Given the description of an element on the screen output the (x, y) to click on. 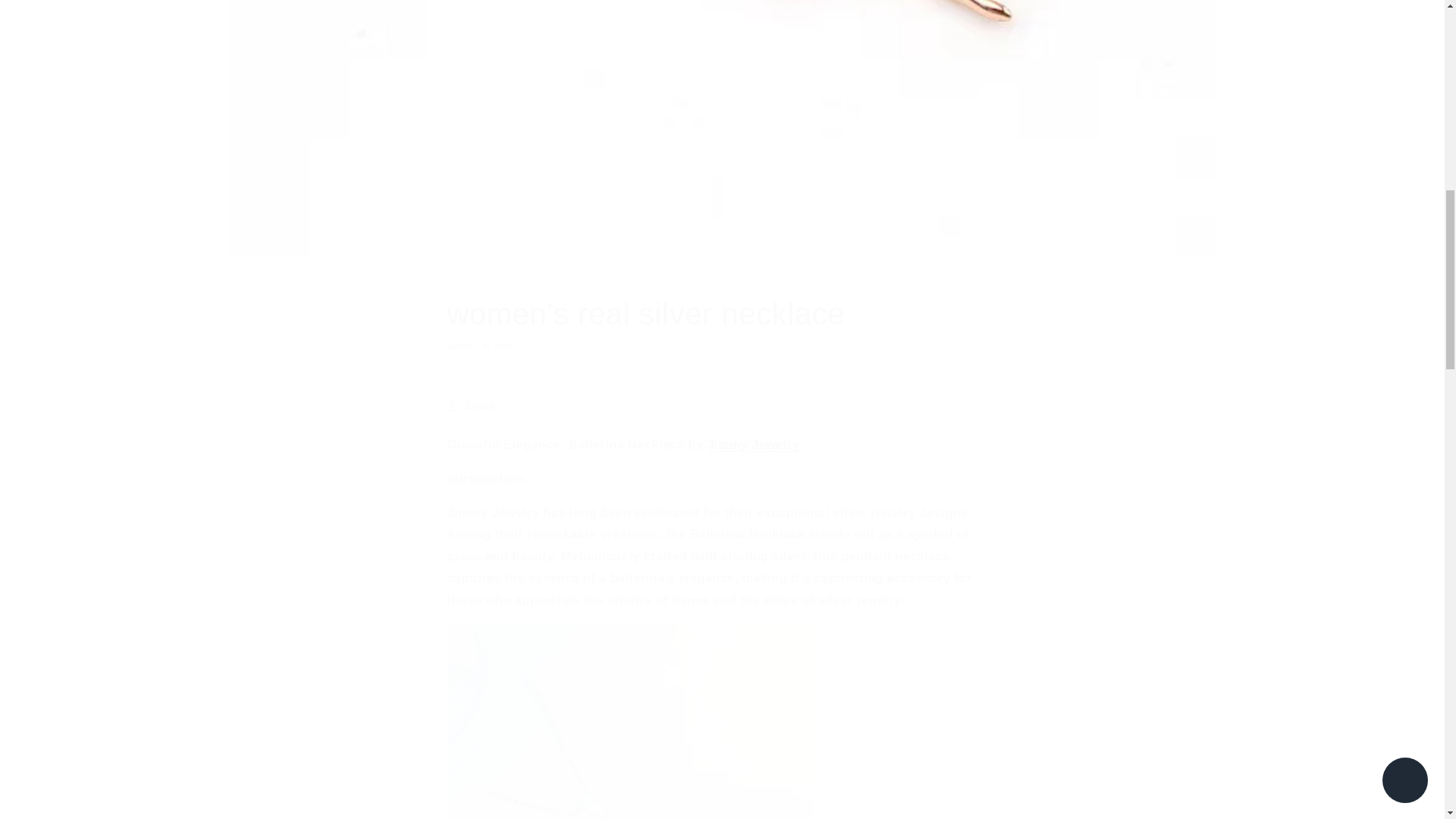
women's sterling silver choker necklace (721, 323)
Share (752, 444)
